Given the description of an element on the screen output the (x, y) to click on. 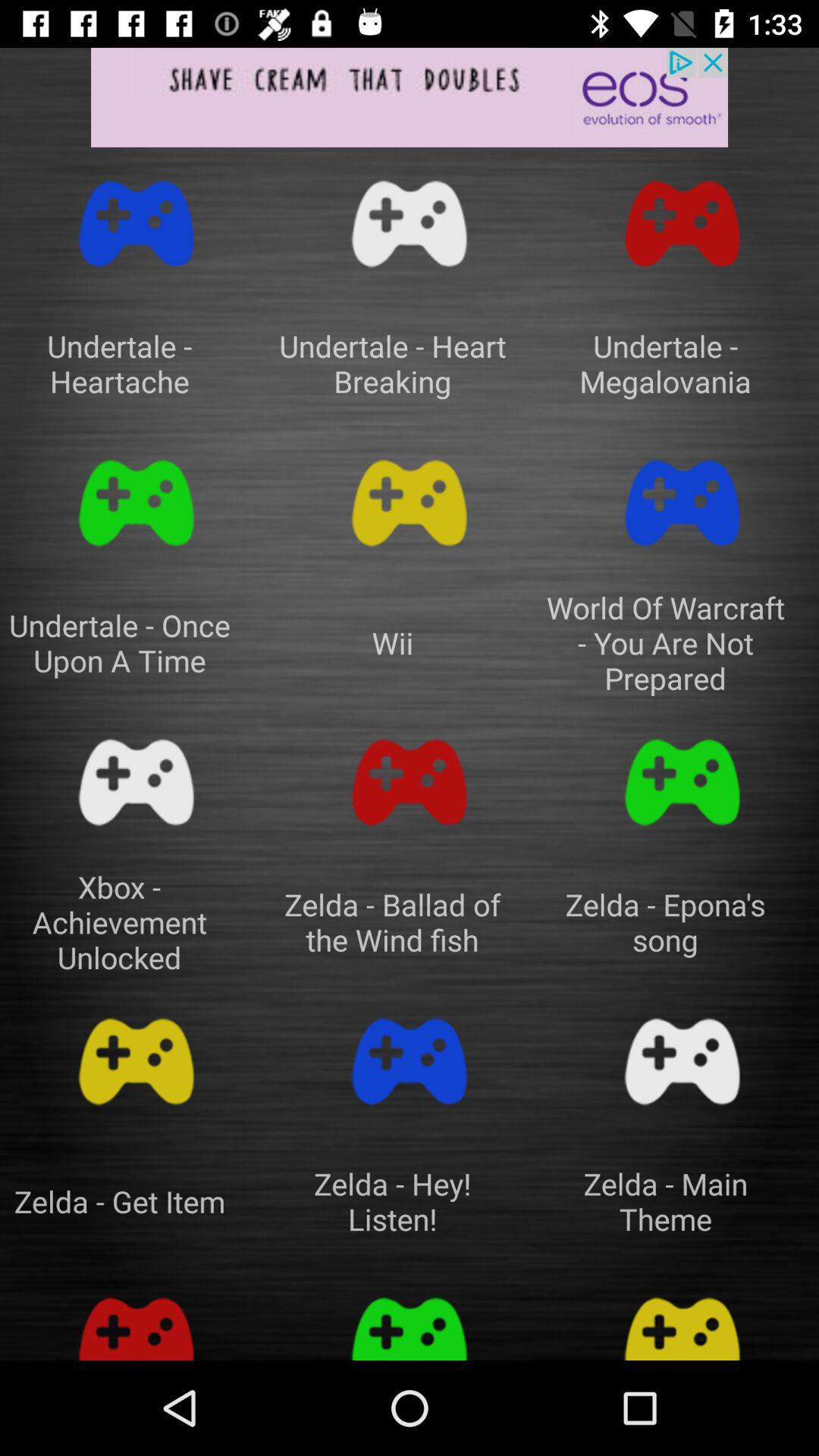
play option (136, 1320)
